Given the description of an element on the screen output the (x, y) to click on. 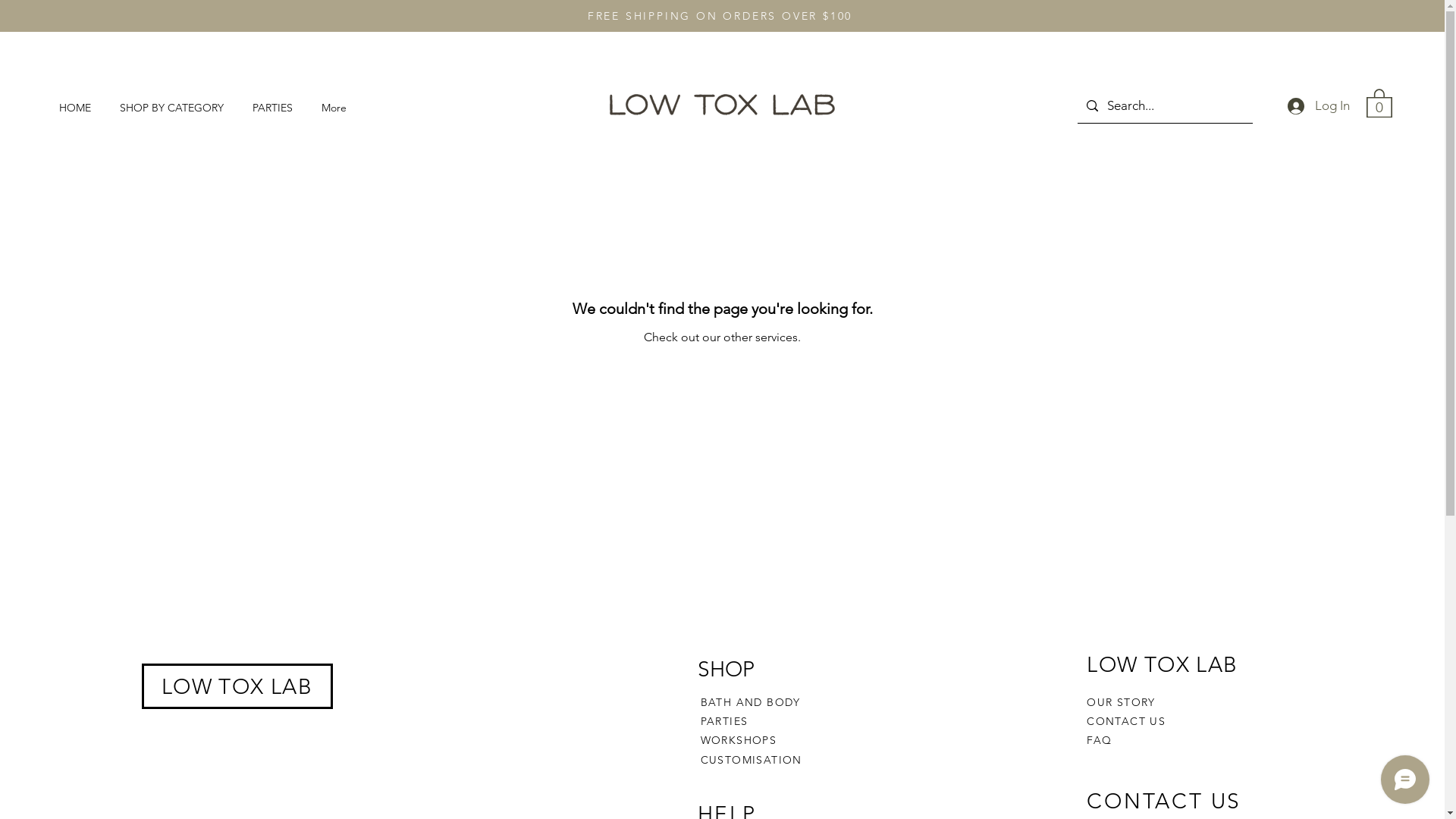
0 Element type: text (1379, 102)
PARTIES Element type: text (275, 107)
HOME Element type: text (77, 107)
LOW TOX LAB Element type: text (236, 686)
CONTACT US Element type: text (1125, 721)
OUR STORY Element type: text (1120, 702)
Log In Element type: text (1318, 105)
FAQ Element type: text (1098, 739)
SHOP BY CATEGORY Element type: text (174, 107)
